Given the description of an element on the screen output the (x, y) to click on. 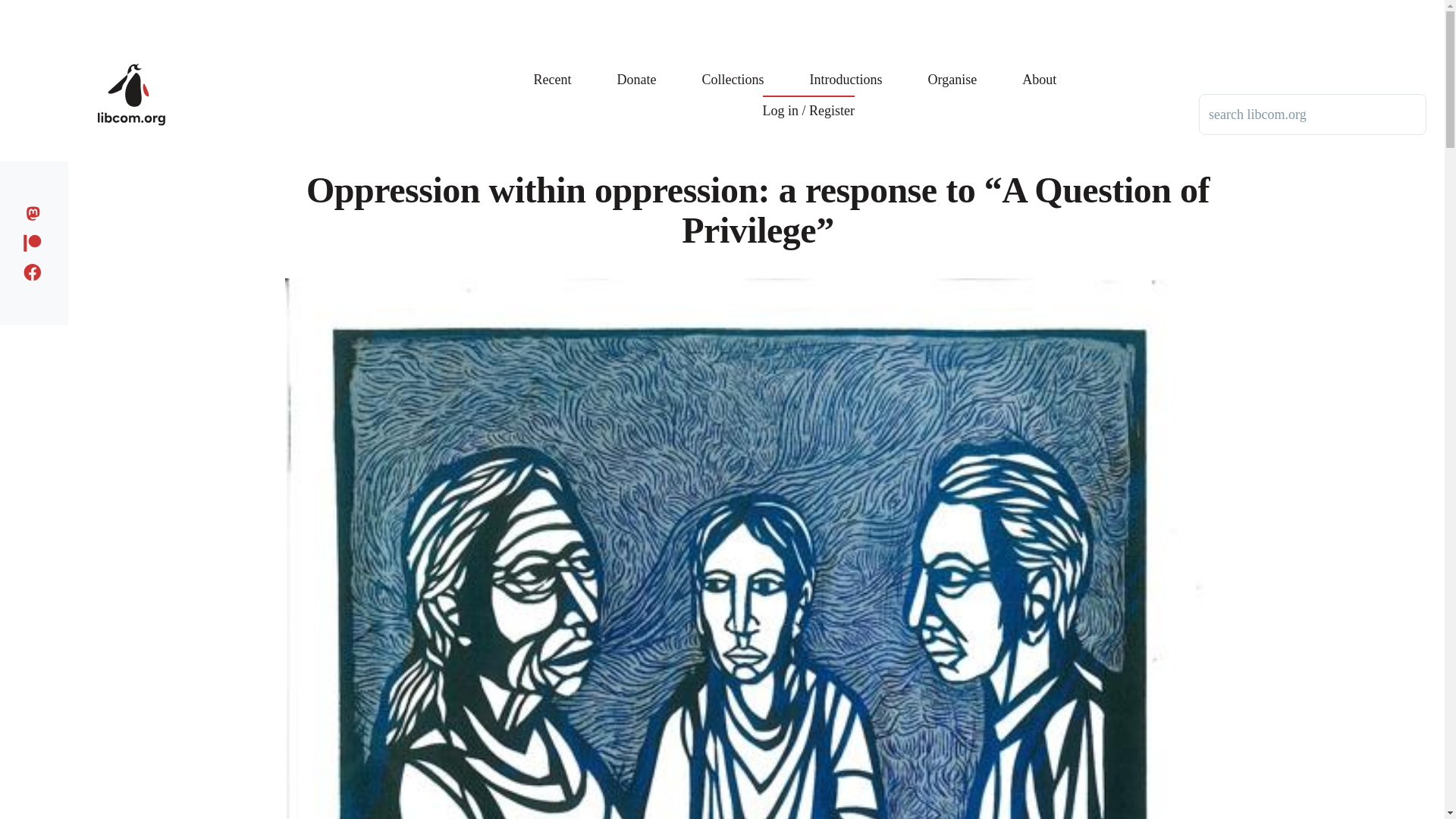
Introductions (845, 68)
Follow us on Mastodon (36, 210)
Support us on patreon (36, 239)
Skip to main content (595, 6)
Collections (732, 68)
Like us on facebook (36, 269)
Organise (952, 68)
